Given the description of an element on the screen output the (x, y) to click on. 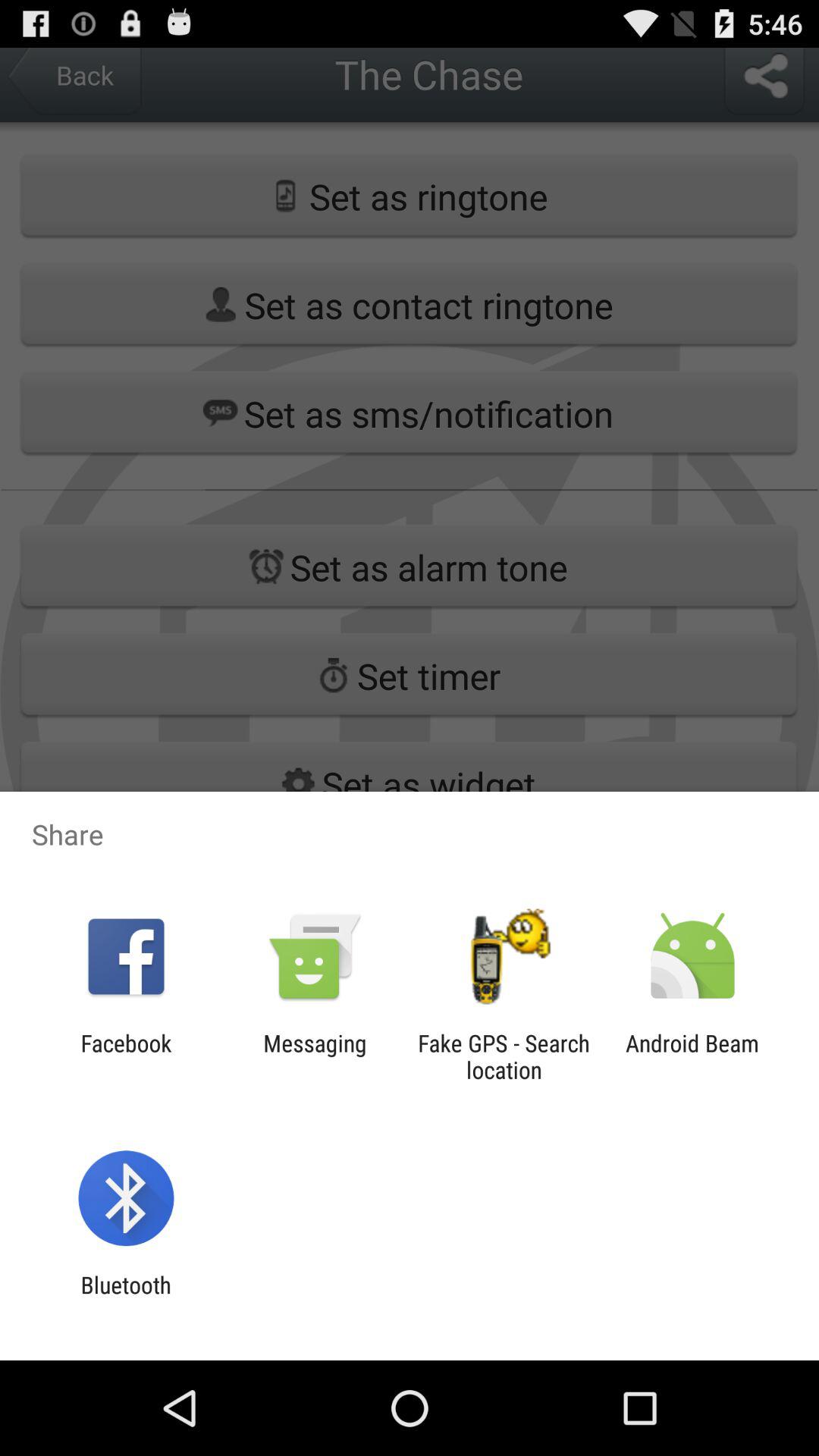
tap icon to the left of messaging icon (125, 1056)
